Given the description of an element on the screen output the (x, y) to click on. 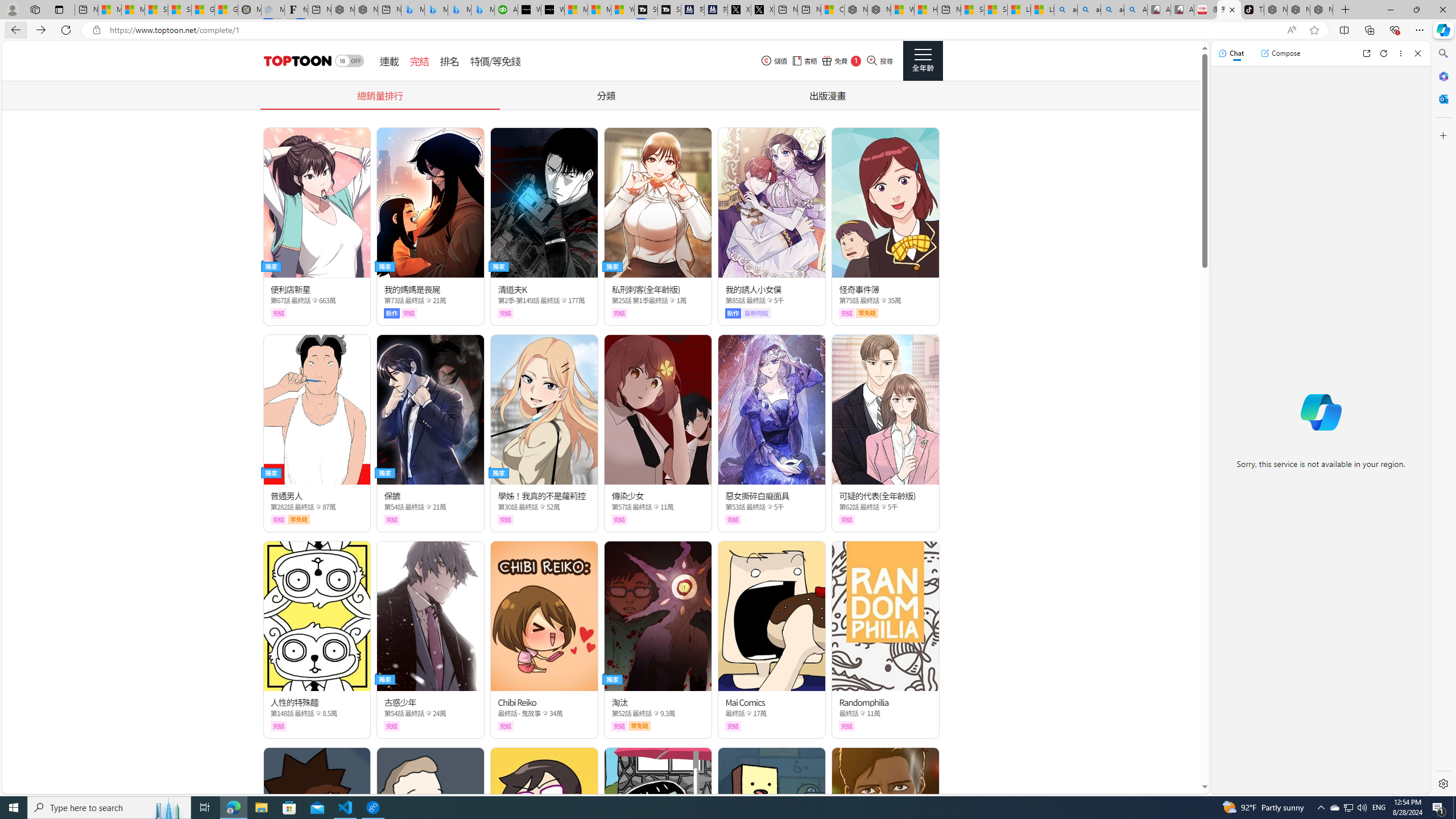
Microsoft Start Sports (575, 9)
X (761, 9)
